Given the description of an element on the screen output the (x, y) to click on. 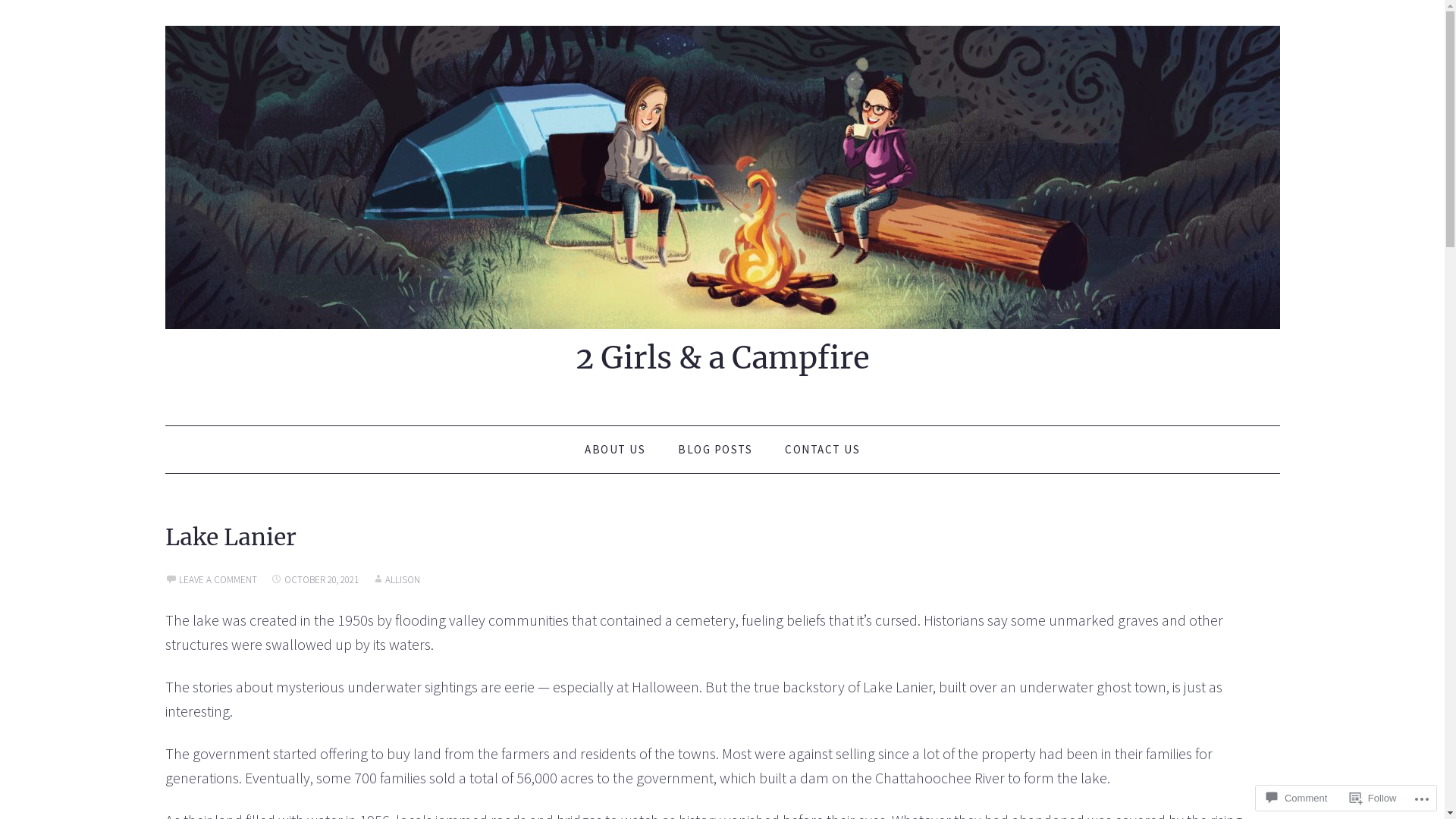
Comment Element type: text (1296, 797)
ABOUT US Element type: text (614, 449)
Follow Element type: text (1372, 797)
ALLISON Element type: text (395, 579)
BLOG POSTS Element type: text (714, 449)
CONTACT US Element type: text (822, 449)
2 Girls & a Campfire Element type: hover (722, 175)
2 Girls & a Campfire Element type: text (721, 357)
OCTOBER 20, 2021 Element type: text (313, 579)
LEAVE A COMMENT Element type: text (211, 579)
